Given the description of an element on the screen output the (x, y) to click on. 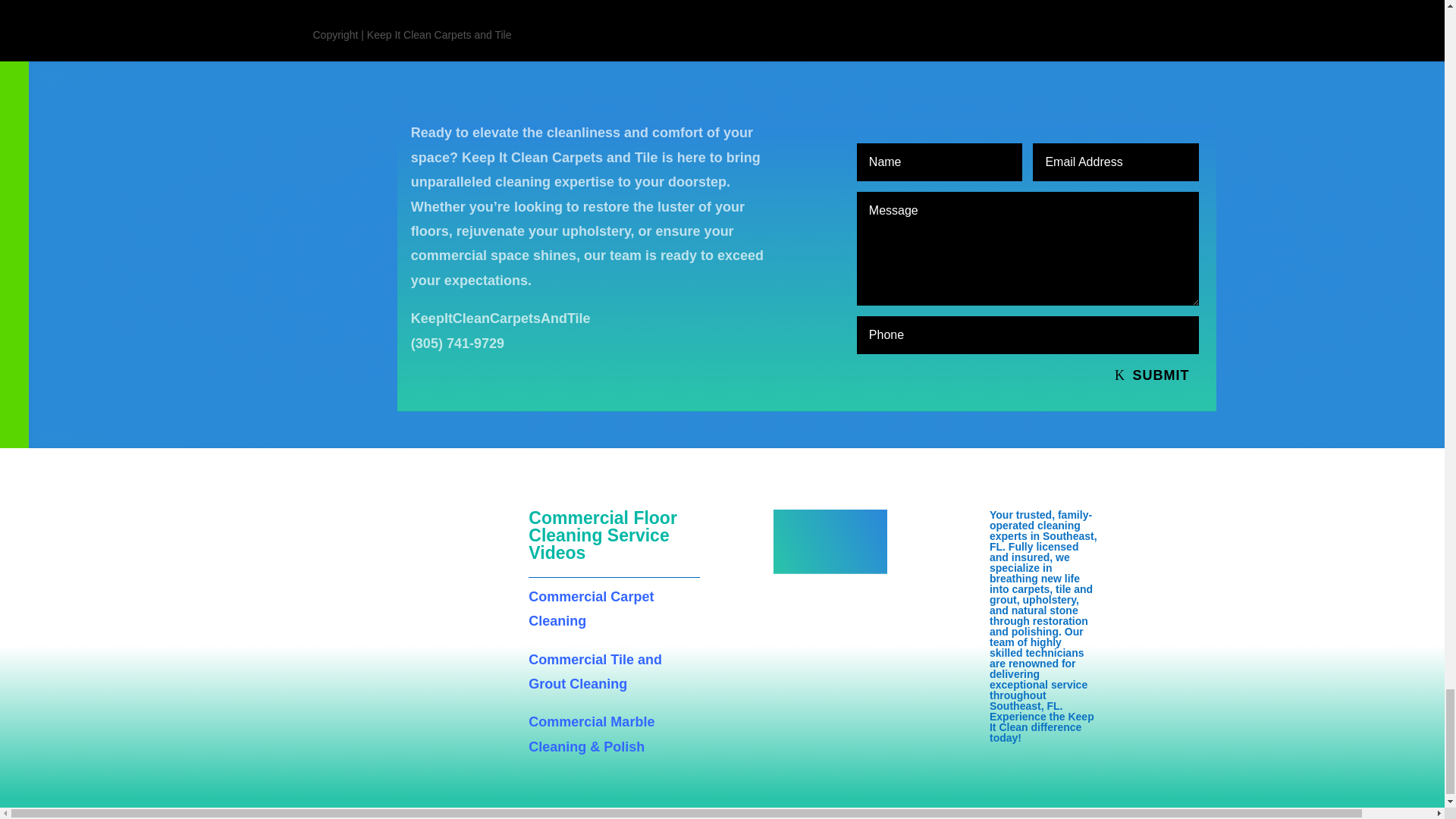
bbb (829, 541)
Minimum length: 5 characters. Maximum length: 51 characters. (940, 161)
